Given the description of an element on the screen output the (x, y) to click on. 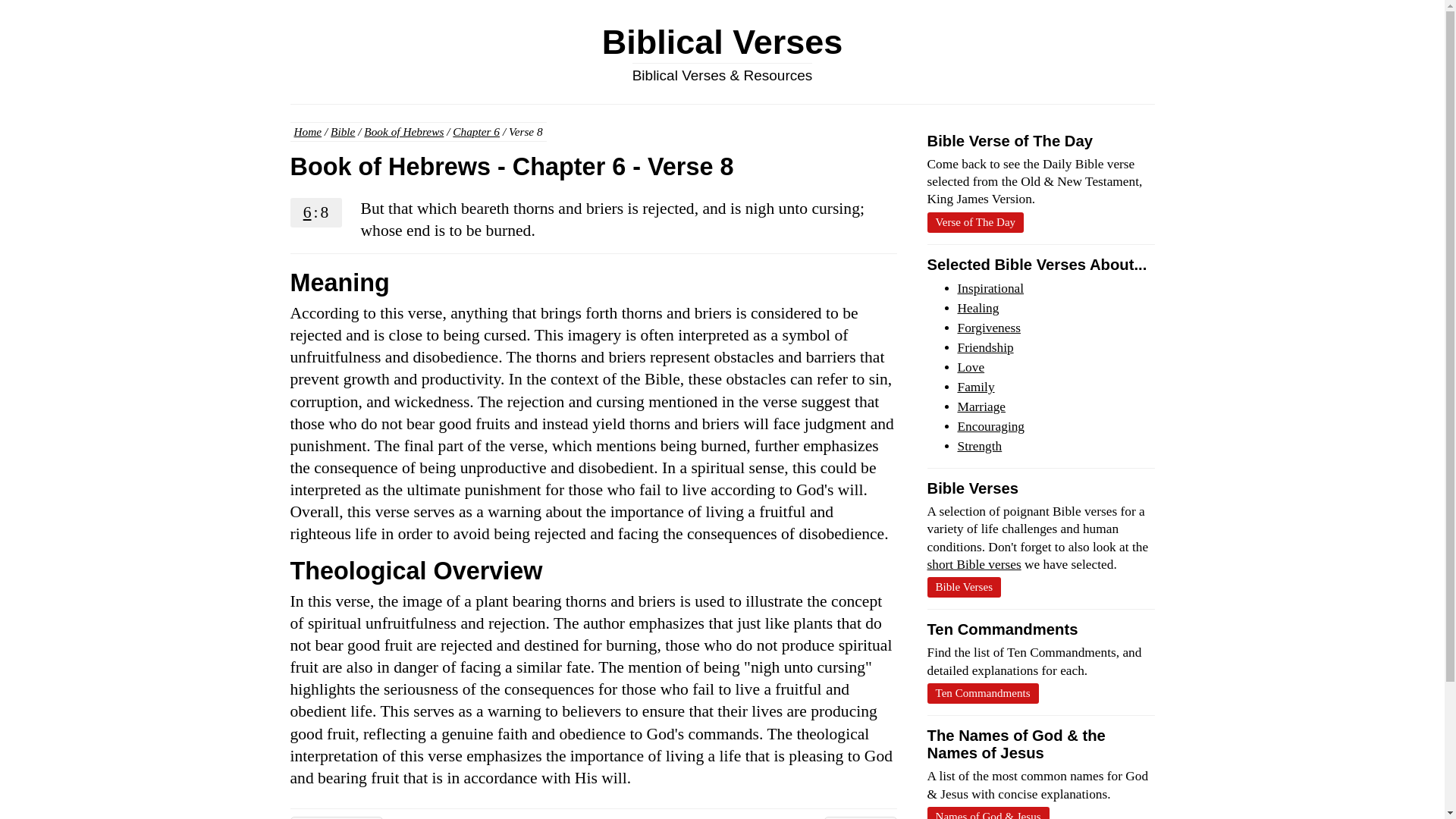
Inspirational (989, 288)
Verse of The Day (974, 222)
Biblical Verses (722, 41)
Ten Commandments (982, 693)
Strength (978, 445)
Encouraging (990, 426)
Bible (342, 131)
Friendship (984, 347)
Bible Verses (963, 587)
Healing (977, 308)
